Given the description of an element on the screen output the (x, y) to click on. 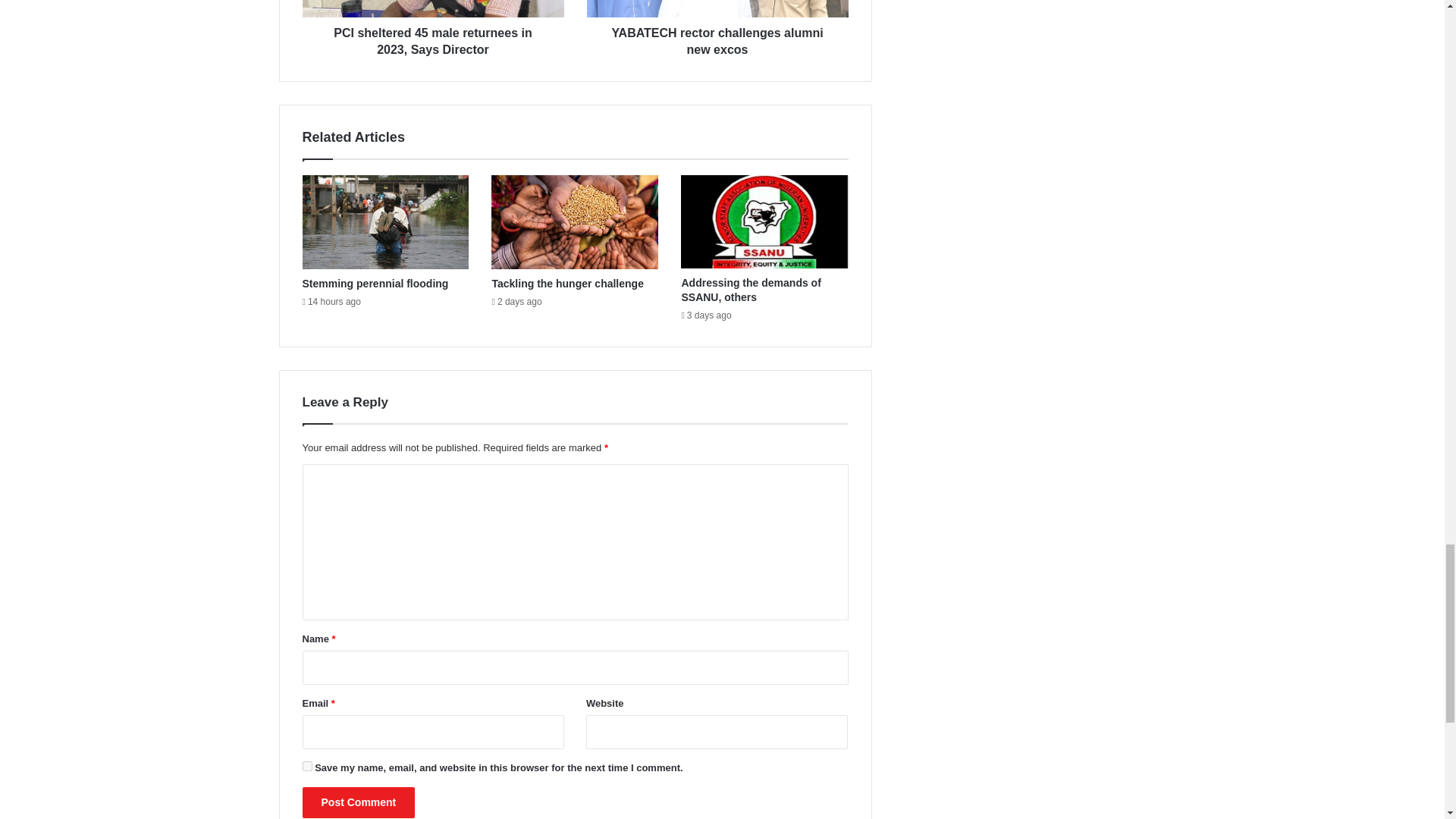
yes (306, 766)
Post Comment (357, 802)
